Given the description of an element on the screen output the (x, y) to click on. 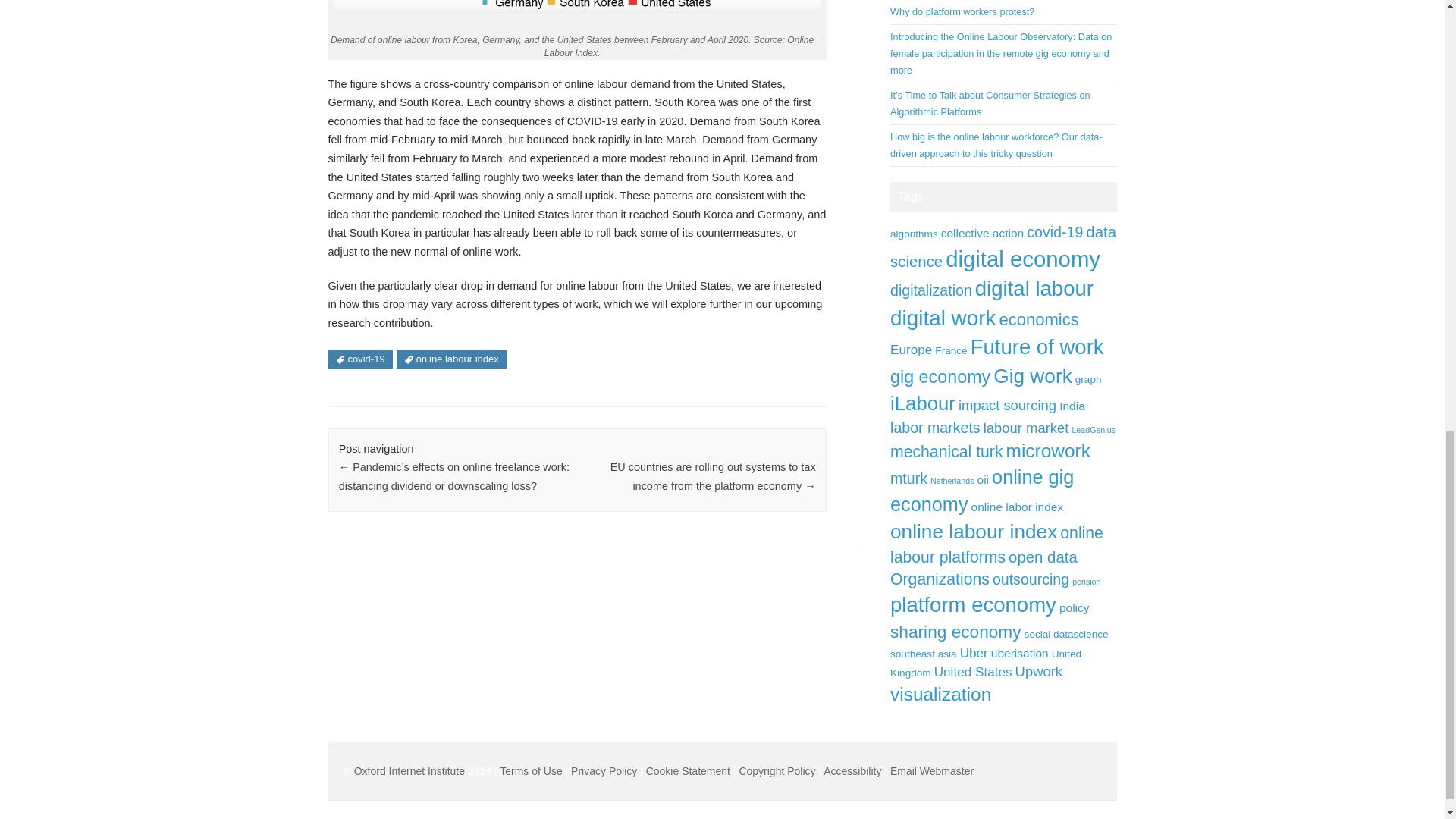
digital economy (1022, 258)
Page 7 (576, 304)
covid-19 (359, 359)
online labour index (451, 359)
digitalization (930, 289)
digital labour (1034, 288)
data science (1002, 246)
covid-19 (1054, 231)
Why do platform workers protest? (961, 11)
collective action (982, 232)
algorithms (913, 233)
